Given the description of an element on the screen output the (x, y) to click on. 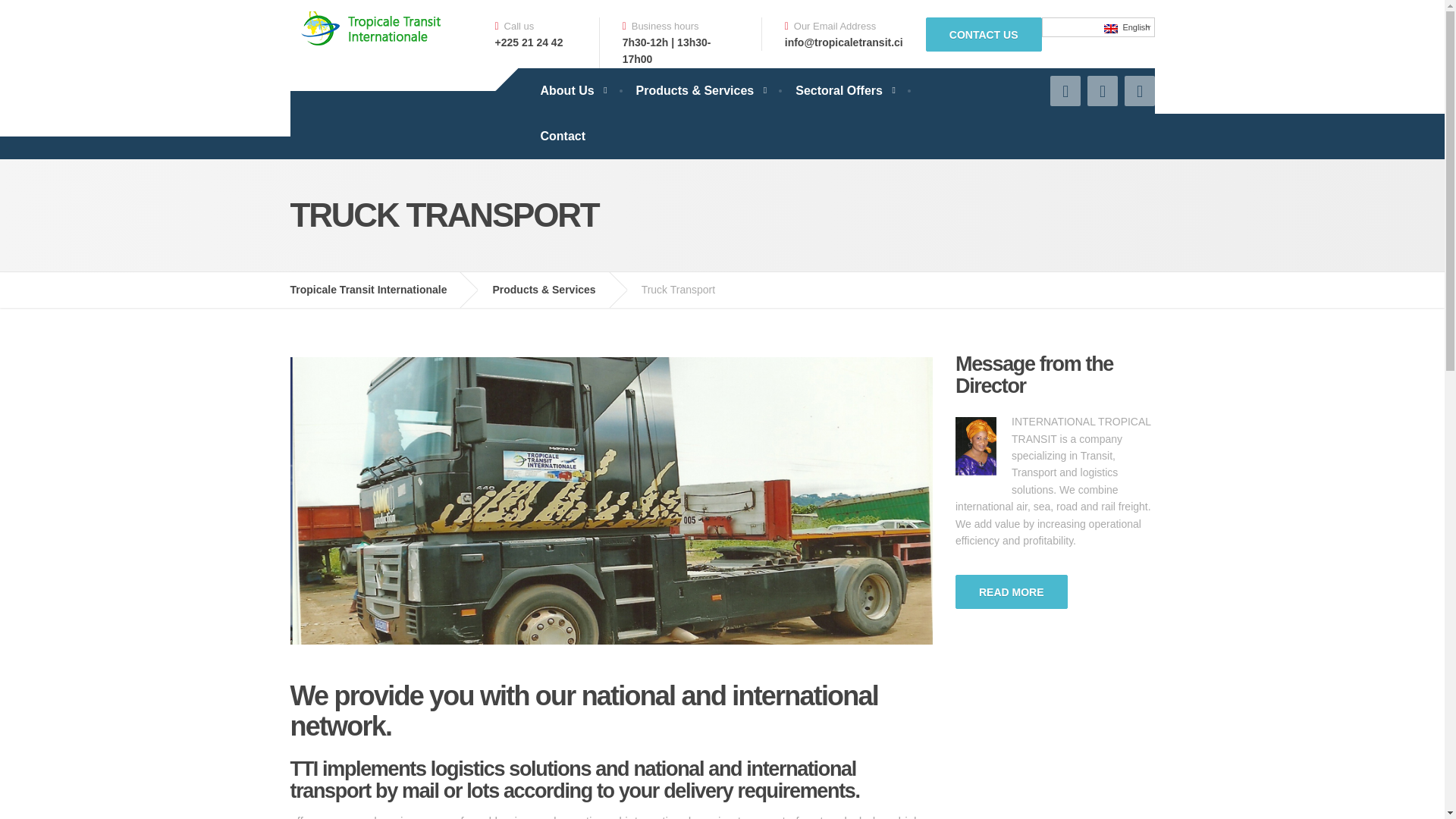
English (1110, 28)
 English (1098, 26)
About Us (572, 90)
CONTACT US (984, 33)
Contact (561, 135)
Sectoral Offers (844, 90)
Tropicale Transit Internationale (378, 289)
READ MORE (1011, 591)
Go to Tropicale Transit Internationale. (378, 289)
